Given the description of an element on the screen output the (x, y) to click on. 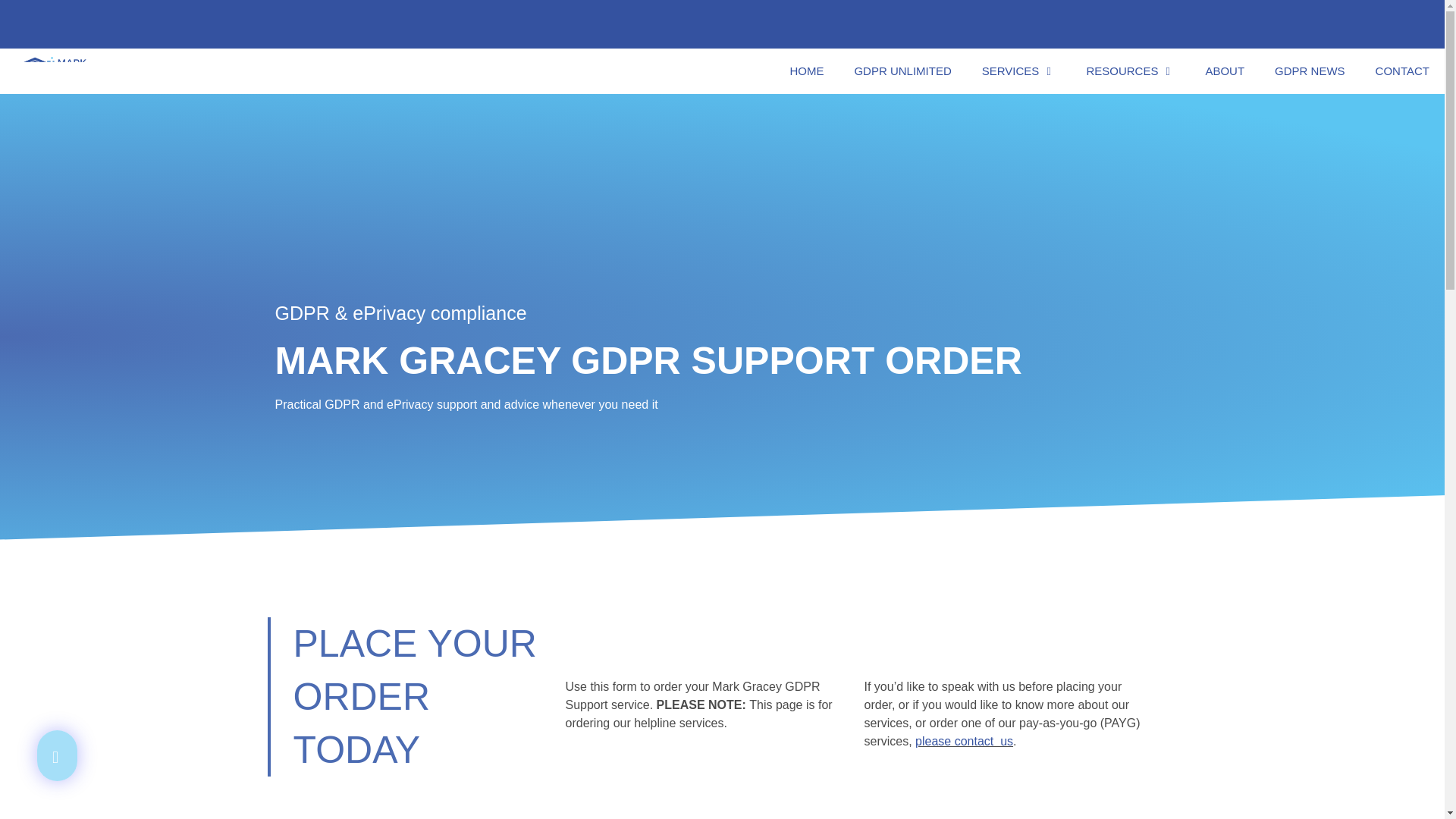
Mark Gracey GDPR Limited (55, 71)
HOME (806, 71)
SERVICES (1018, 71)
Mark Gracey GDPR Limited (58, 71)
GDPR UNLIMITED (902, 71)
